Given the description of an element on the screen output the (x, y) to click on. 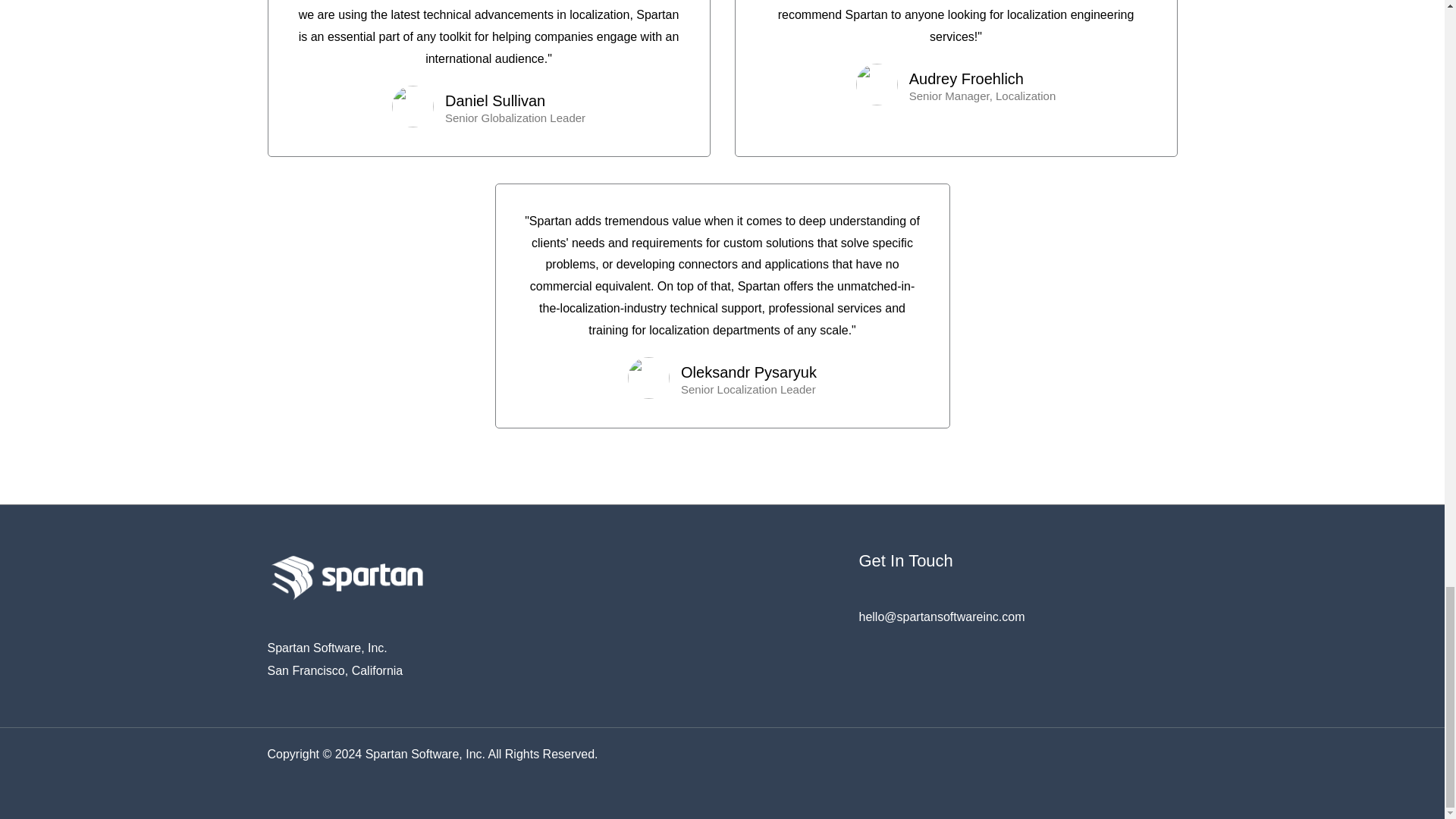
Senior Localization Leader (748, 388)
Daniel Sullivan (515, 100)
Senior Globalization Leader (515, 117)
Audrey Froehlich (981, 78)
Senior Manager, Localization (981, 95)
Oleksandr Pysaryuk (748, 371)
